Given the description of an element on the screen output the (x, y) to click on. 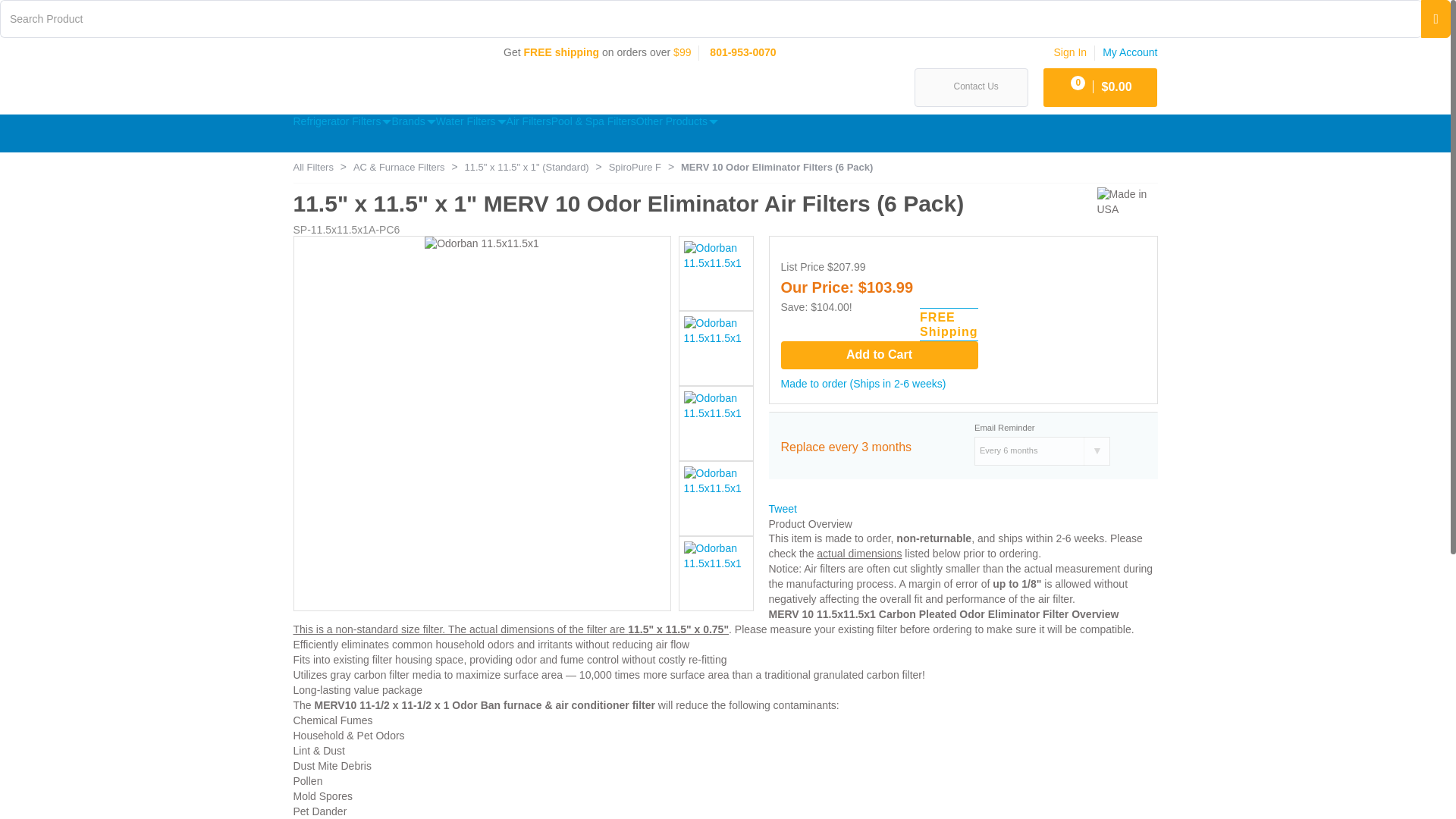
Brands (413, 121)
Add to Cart (879, 355)
Contact Us (970, 87)
My Account (1129, 51)
801-953-0070 (743, 51)
Refrigerator Filters (341, 121)
Sign In (1070, 51)
